Given the description of an element on the screen output the (x, y) to click on. 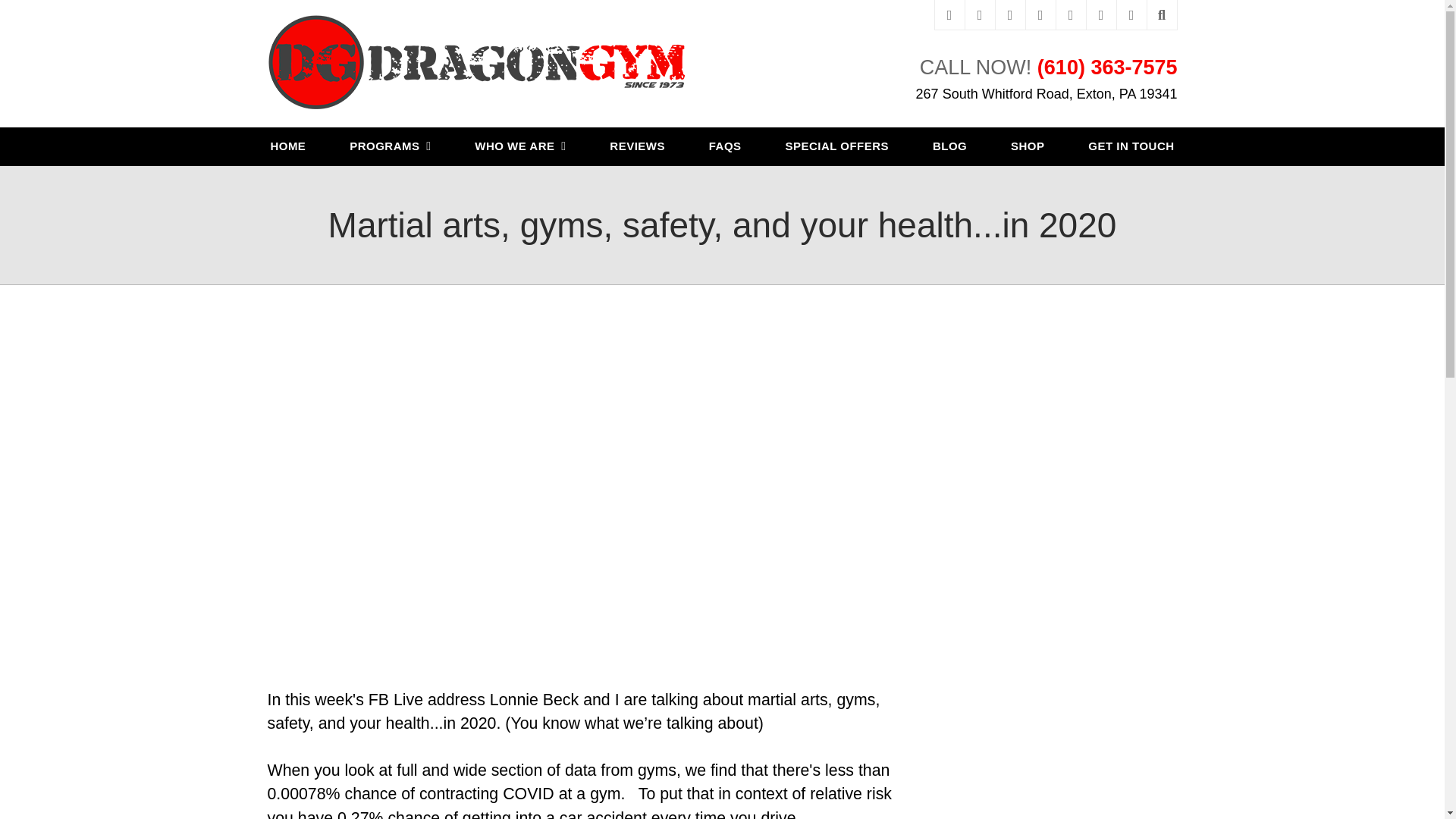
HOME (288, 146)
WHO WE ARE (520, 146)
Search (1161, 15)
PROGRAMS (389, 146)
